Given the description of an element on the screen output the (x, y) to click on. 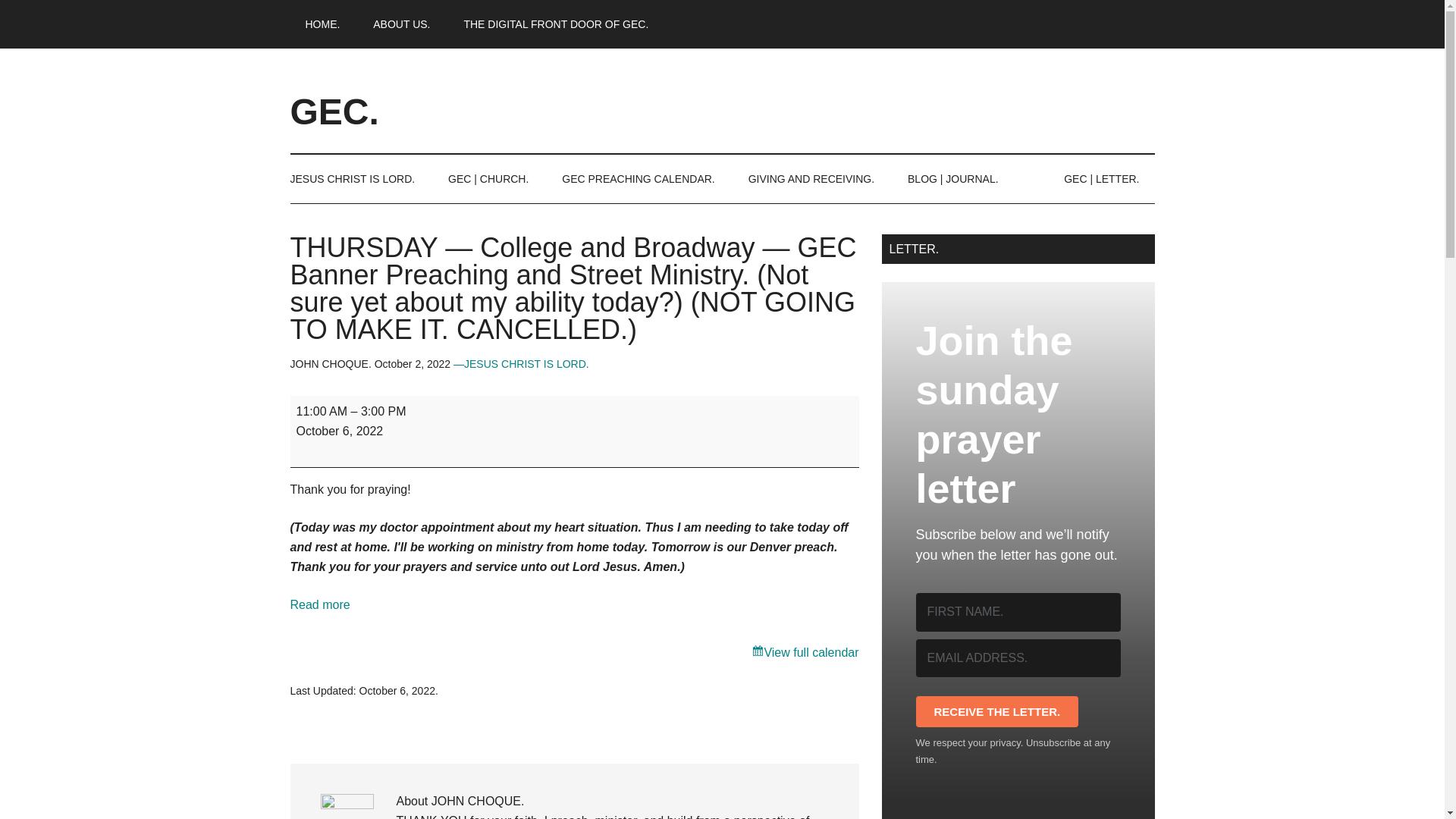
GEC. (333, 111)
ABOUT US. (401, 24)
SIMPLE. (401, 24)
JESUS CHRIST IS LORD. (359, 178)
GEC PREACHING CALENDAR. (638, 178)
PAGE ONE. (322, 24)
THE DIGITAL FRONT DOOR OF GEC. (555, 24)
JESUS SAVES. (359, 178)
HOME. (322, 24)
GOSPEL EVANGELIST CHURCH. (555, 24)
